Given the description of an element on the screen output the (x, y) to click on. 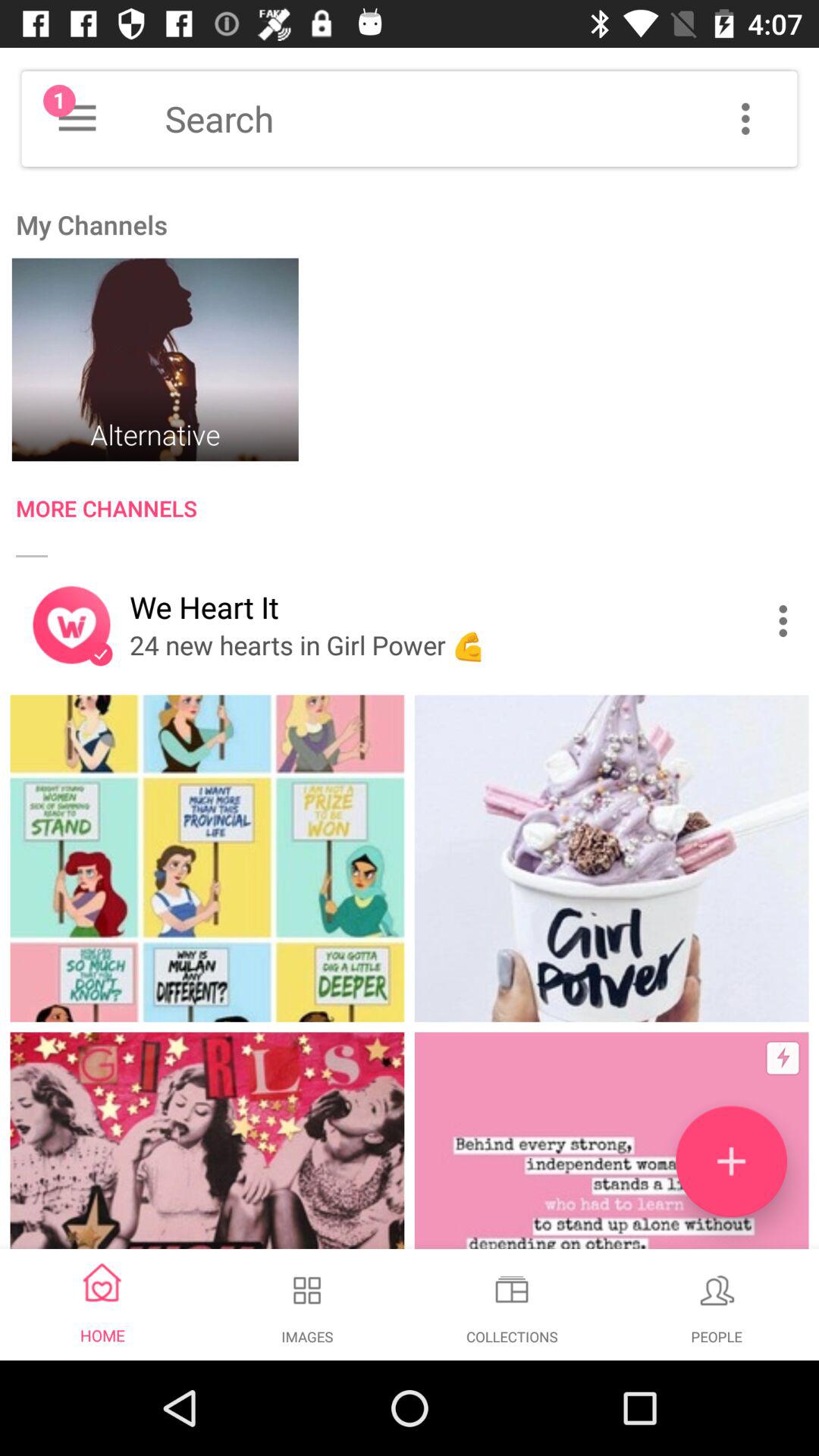
go to main menu (77, 118)
